Given the description of an element on the screen output the (x, y) to click on. 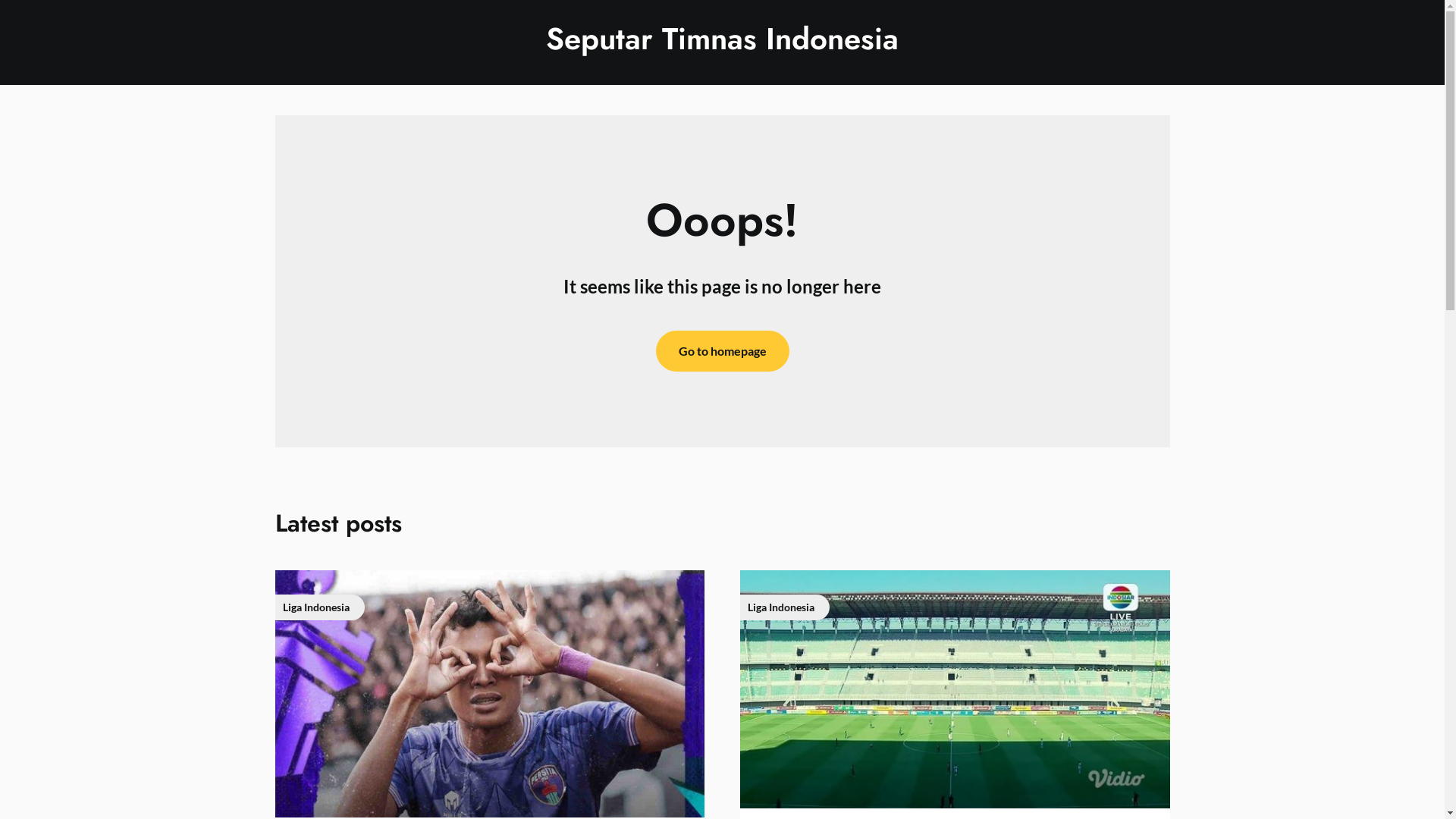
Liga Indonesia Element type: text (488, 693)
Liga Indonesia Element type: text (954, 689)
Go to homepage Element type: text (721, 350)
Seputar Timnas Indonesia Element type: text (721, 38)
